Given the description of an element on the screen output the (x, y) to click on. 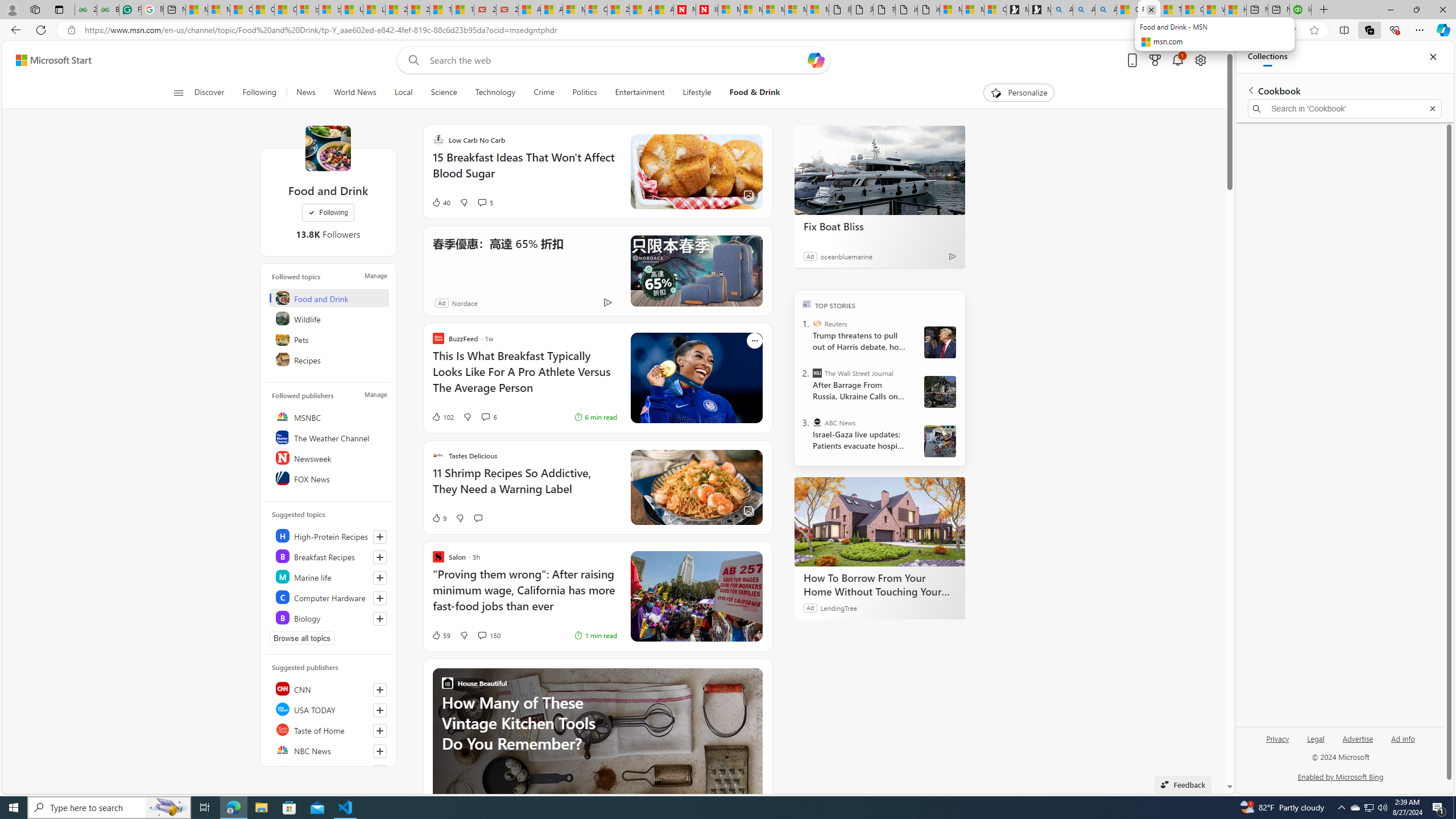
21 Movies That Outdid the Books They Were Based On (507, 9)
View comments 150 Comment (481, 634)
TOP (806, 302)
